Given the description of an element on the screen output the (x, y) to click on. 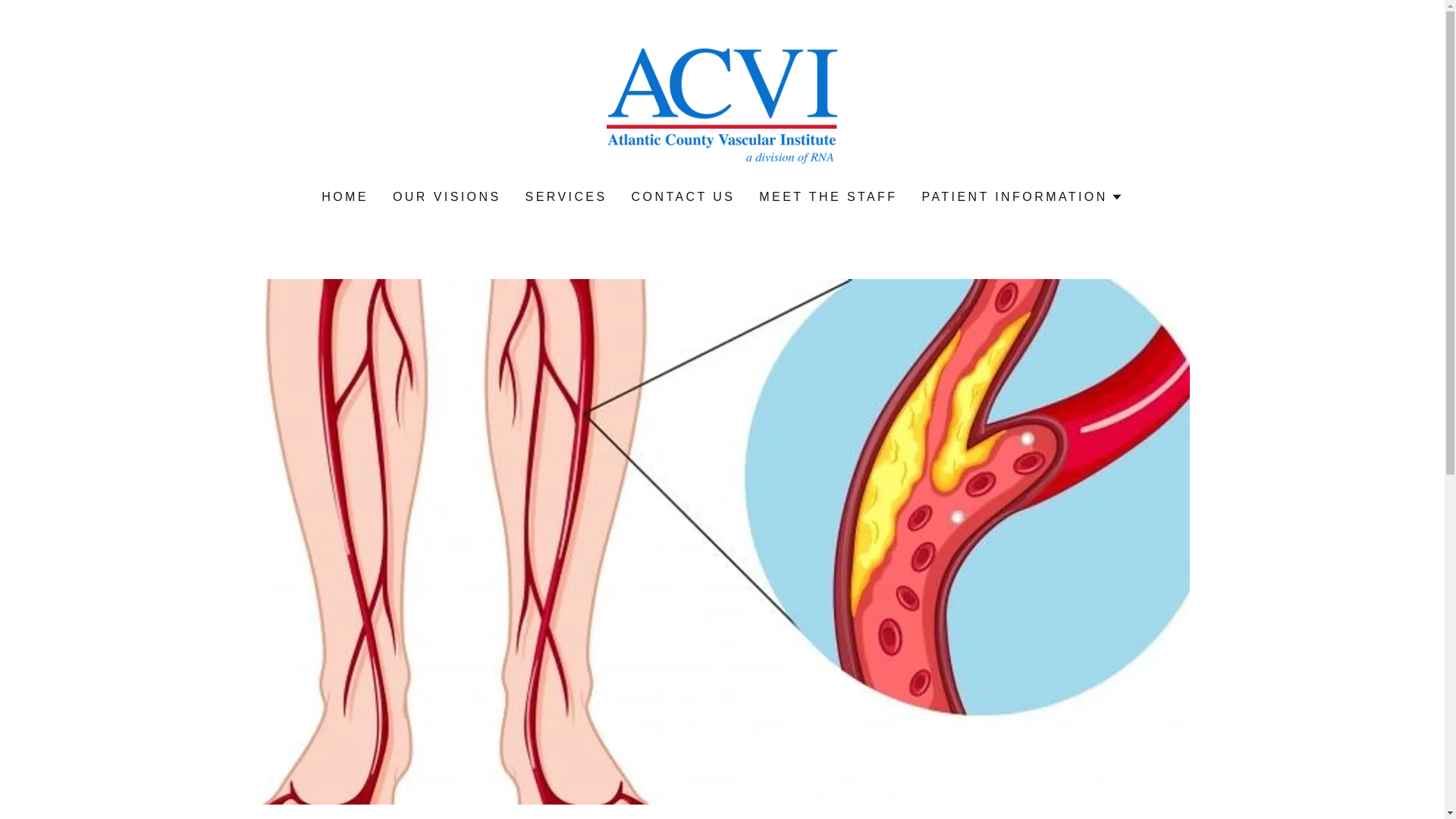
SERVICES (566, 196)
CONTACT US (683, 196)
HOME (344, 196)
MEET THE STAFF (827, 196)
PATIENT INFORMATION (1021, 197)
OUR VISIONS (721, 105)
